Given the description of an element on the screen output the (x, y) to click on. 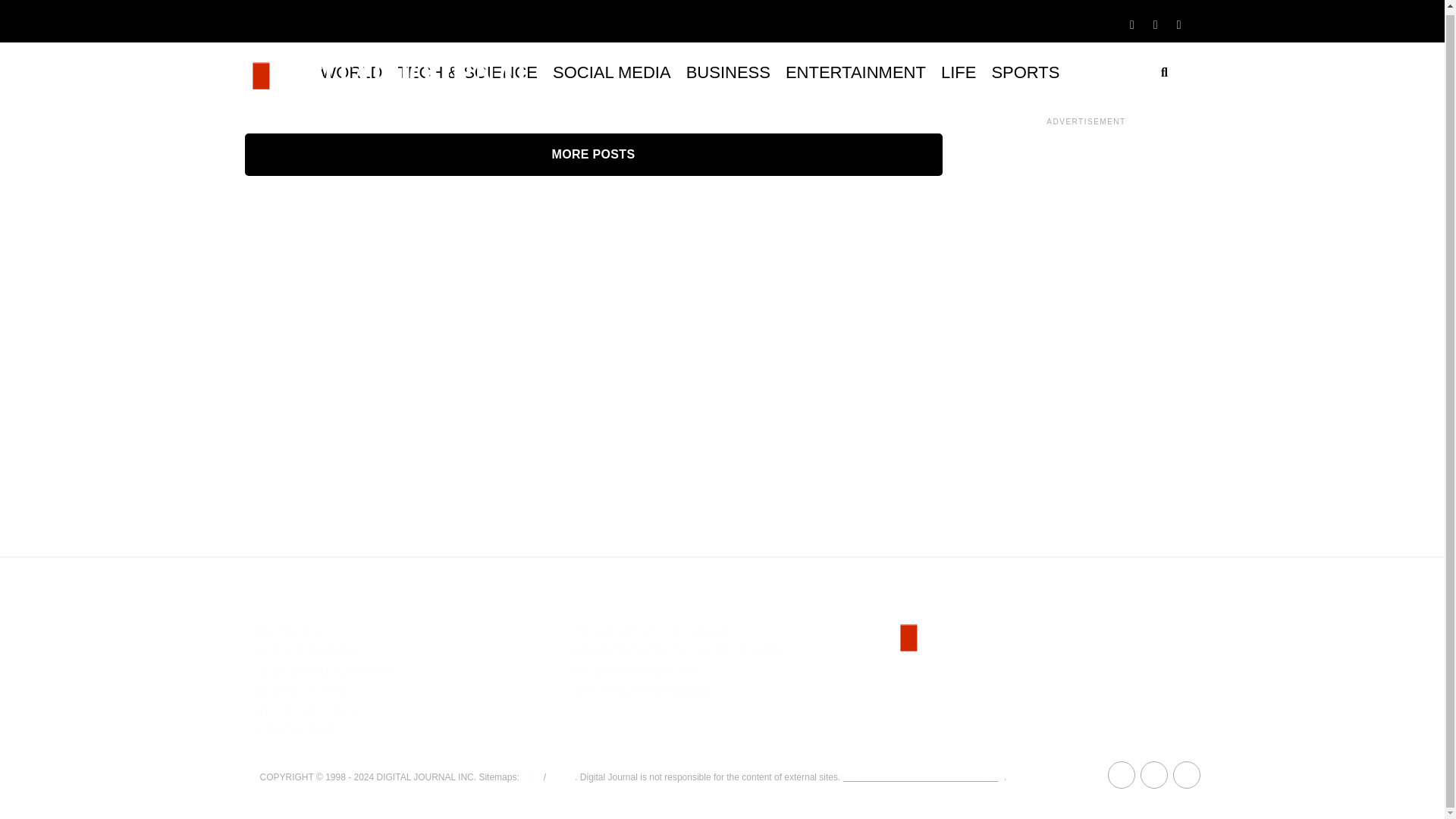
BUSINESS (727, 72)
Read more about our external linking (923, 776)
PRIVACY POLICY (307, 710)
TERMS OF USE (301, 690)
SPORTS (1025, 72)
WORLD (351, 72)
News (560, 776)
ENTERTAINMENT (855, 72)
INSIGHT FORUM (304, 651)
CONTACT US (295, 730)
